Given the description of an element on the screen output the (x, y) to click on. 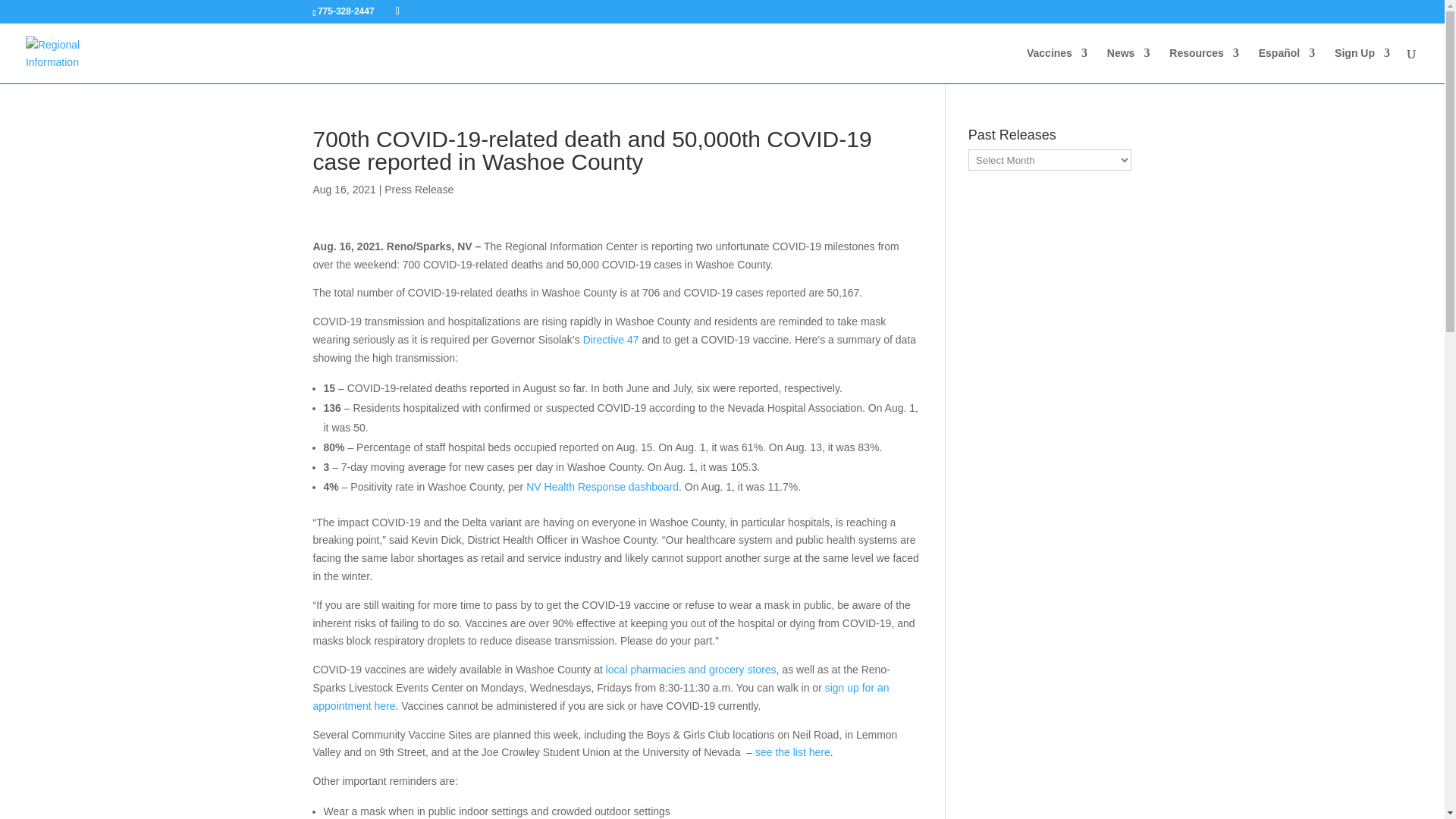
see the list here (792, 752)
Resources (1204, 65)
Sign Up (1362, 65)
sign up for an appointment here (600, 696)
Press Release (418, 189)
News (1128, 65)
Vaccines (1056, 65)
NV Health Response dashboard (601, 486)
Directive 47 (611, 339)
local pharmacies and grocery stores (690, 669)
